Given the description of an element on the screen output the (x, y) to click on. 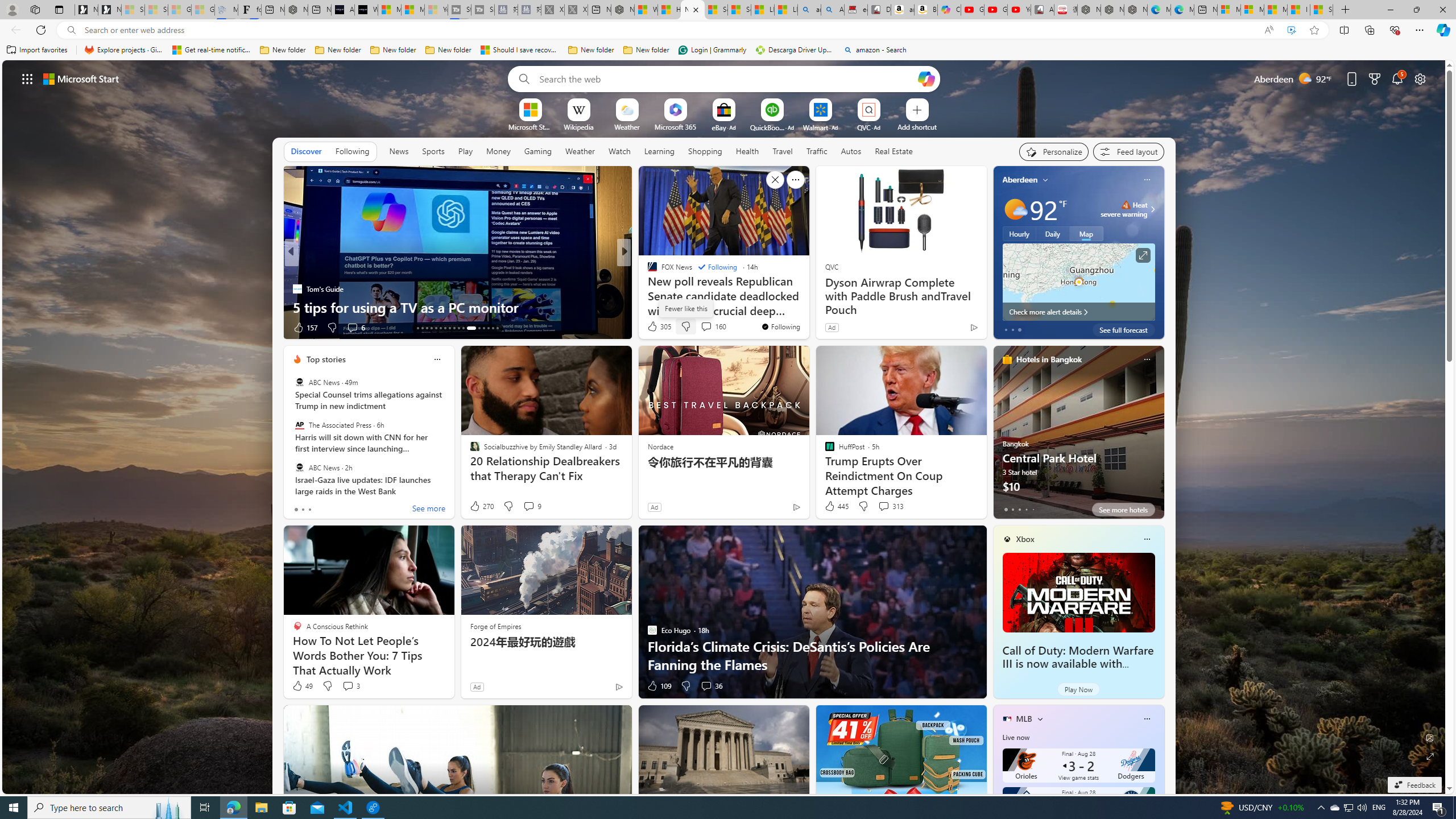
View comments 9 Comment (532, 505)
Heat - Severe (1126, 204)
View comments 107 Comment (709, 327)
View comments 160 Comment (705, 326)
Top stories (325, 359)
ABC News (299, 466)
Edit Background (1430, 737)
Streaming Coverage | T3 - Sleeping (459, 9)
previous (998, 252)
Personalize your feed" (1054, 151)
